Given the description of an element on the screen output the (x, y) to click on. 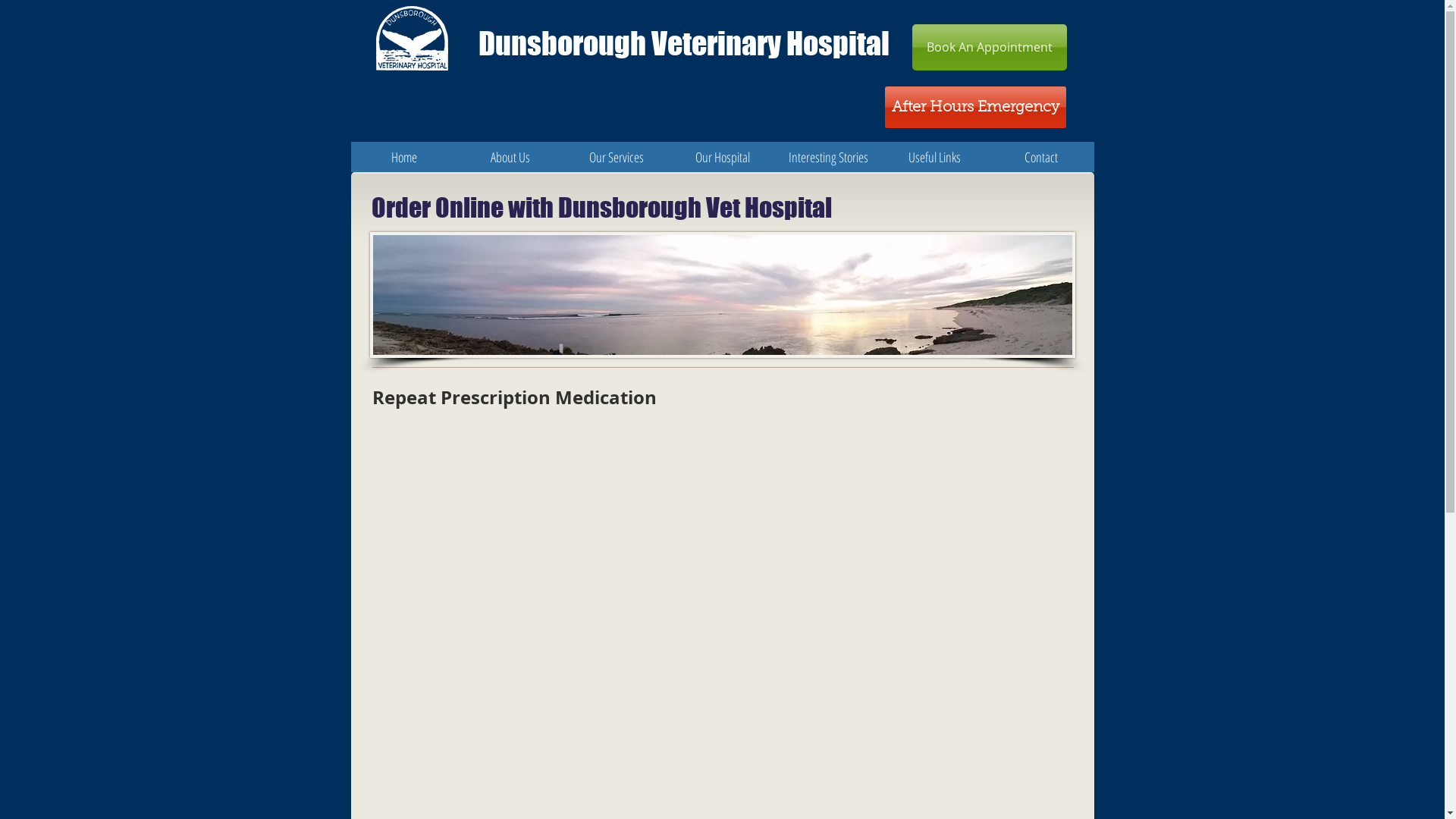
Our Services Element type: text (615, 156)
About Us Element type: text (509, 156)
Book An Appointment Element type: text (988, 47)
Interesting Stories Element type: text (828, 156)
Home Element type: text (403, 156)
Useful Links Element type: text (934, 156)
Horrocks.jpg Element type: hover (722, 294)
Our Hospital Element type: text (721, 156)
Contact Element type: text (1040, 156)
After Hours Emergency Element type: text (974, 107)
